Given the description of an element on the screen output the (x, y) to click on. 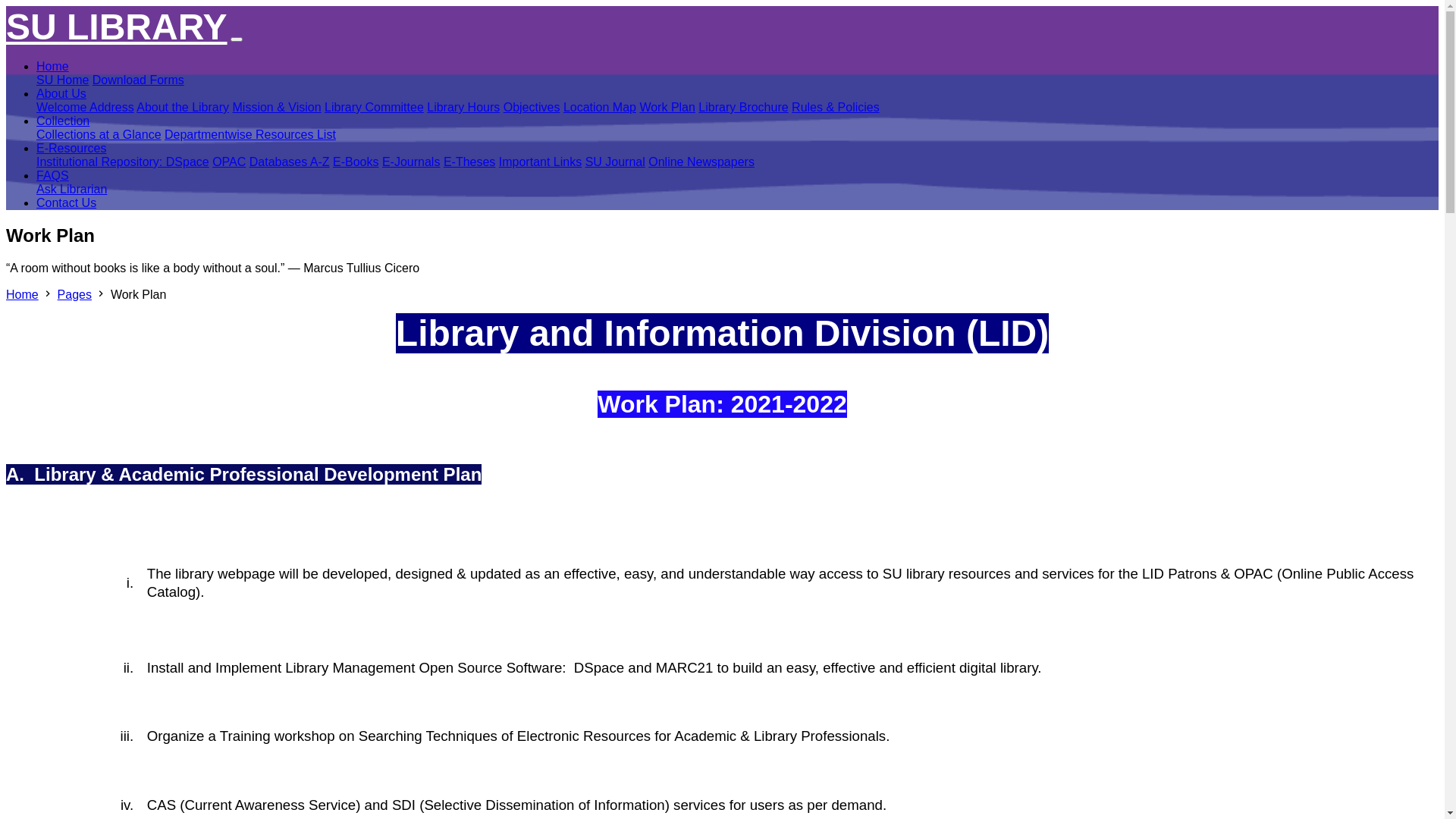
About the Library Element type: text (182, 106)
Mission & Vision Element type: text (276, 106)
Collections at a Glance Element type: text (98, 134)
Databases A-Z Element type: text (289, 161)
SU Journal Element type: text (615, 161)
Download Forms Element type: text (138, 79)
Welcome Address Element type: text (85, 106)
Library Committee Element type: text (373, 106)
Departmentwise Resources List Element type: text (249, 134)
Rules & Policies Element type: text (835, 106)
Library Hours Element type: text (462, 106)
Institutional Repository: DSpace Element type: text (122, 161)
Location Map Element type: text (599, 106)
Home Element type: text (52, 65)
E-Journals Element type: text (410, 161)
Contact Us Element type: text (66, 202)
Online Newspapers Element type: text (701, 161)
E-Resources Element type: text (71, 147)
Pages Element type: text (74, 294)
FAQS Element type: text (52, 175)
SU Home Element type: text (62, 79)
E-Books Element type: text (355, 161)
About Us Element type: text (61, 93)
E-Theses Element type: text (469, 161)
Objectives Element type: text (531, 106)
Work Plan Element type: text (667, 106)
Important Links Element type: text (539, 161)
Ask Librarian Element type: text (71, 188)
SU LIBRARY Element type: text (116, 26)
OPAC Element type: text (228, 161)
Home Element type: text (22, 294)
Library Brochure Element type: text (742, 106)
Collection Element type: text (62, 120)
